Given the description of an element on the screen output the (x, y) to click on. 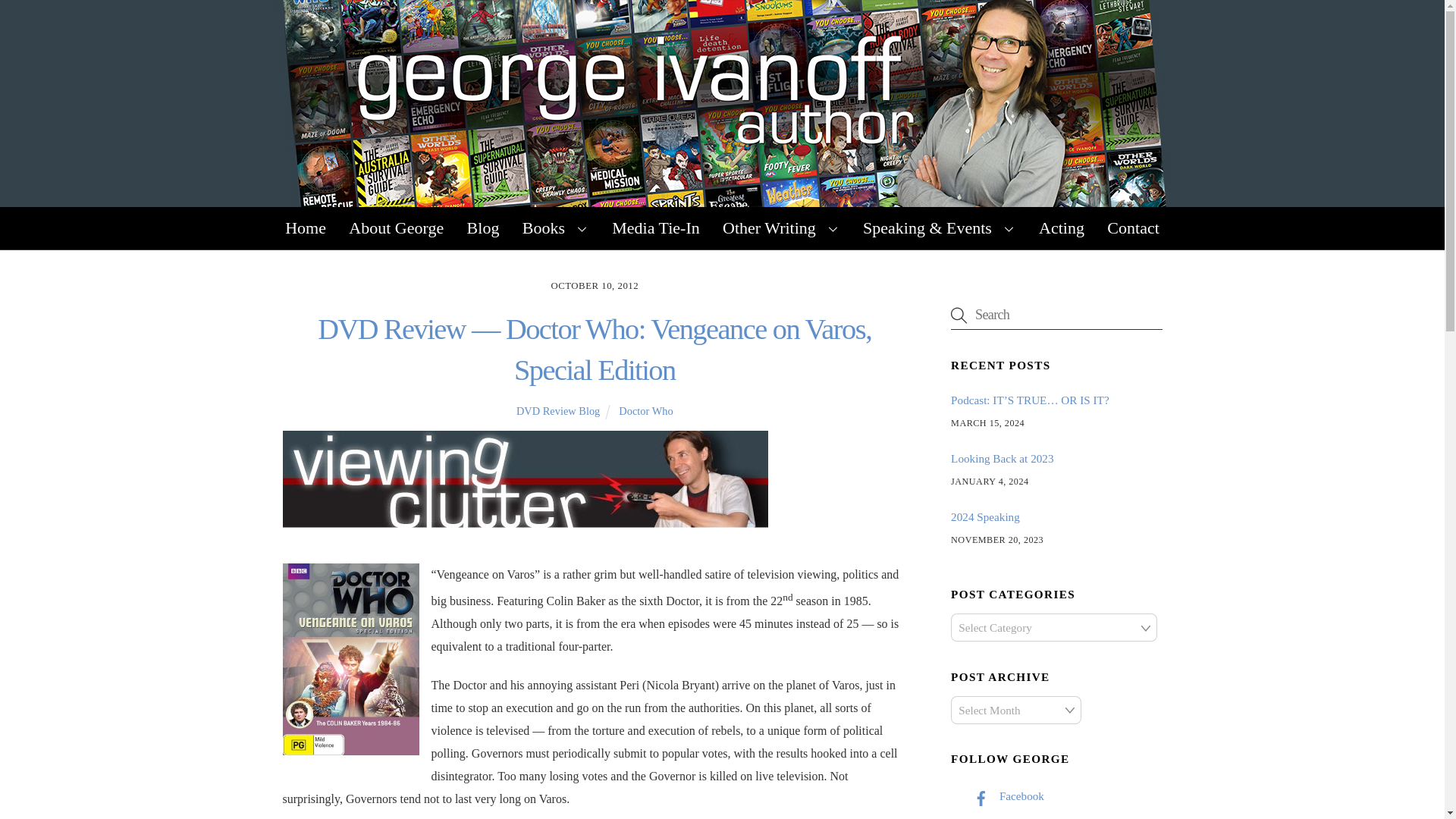
Contact (1133, 228)
Viewing Clutter (524, 478)
Doctor Who (645, 410)
Books (555, 228)
Acting (1061, 228)
DVD Review Blog (557, 410)
Media Tie-In (656, 228)
Home (305, 228)
Search (1055, 315)
About George (395, 228)
Other Writing (781, 228)
Blog (482, 228)
